Given the description of an element on the screen output the (x, y) to click on. 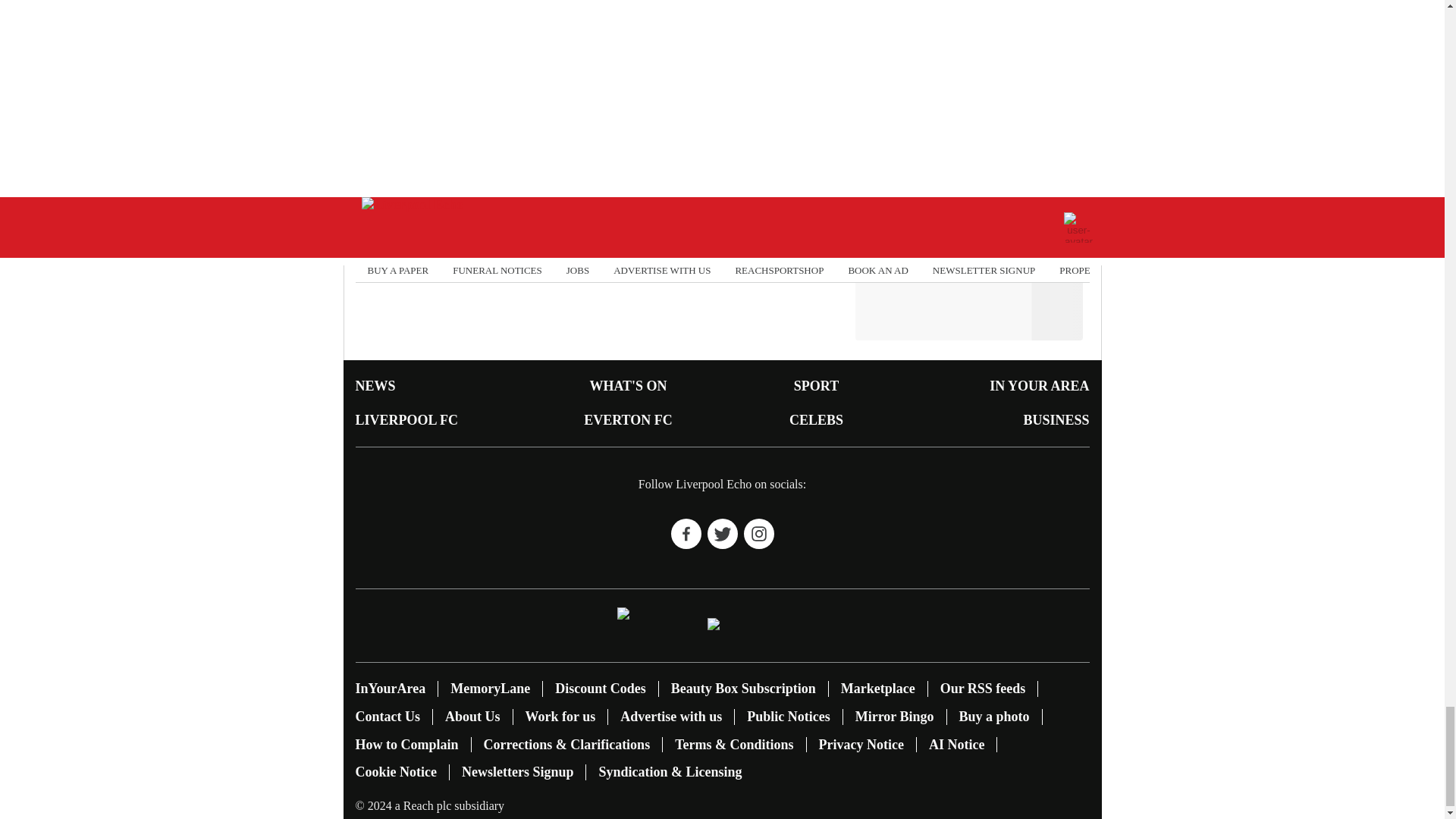
NEWS (374, 385)
EVERTON FC (627, 419)
LIVERPOOL FC (406, 419)
CELEBS (816, 419)
BUSINESS (1056, 419)
IN YOUR AREA (1039, 385)
InYourArea (390, 688)
SPORT (815, 385)
WHAT'S ON (627, 385)
